Given the description of an element on the screen output the (x, y) to click on. 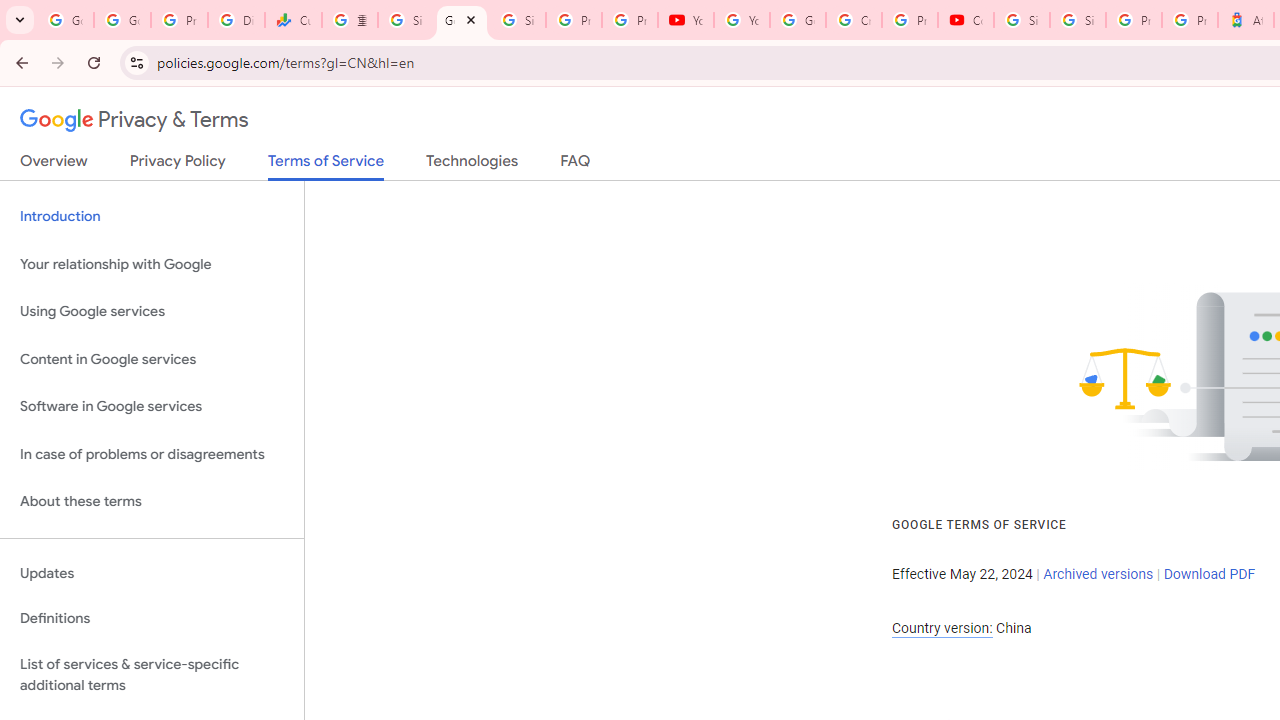
Software in Google services (152, 407)
YouTube (685, 20)
Definitions (152, 619)
YouTube (742, 20)
Sign in - Google Accounts (1021, 20)
Sign in - Google Accounts (518, 20)
Content in Google services (152, 358)
List of services & service-specific additional terms (152, 674)
Sign in - Google Accounts (1077, 20)
